Given the description of an element on the screen output the (x, y) to click on. 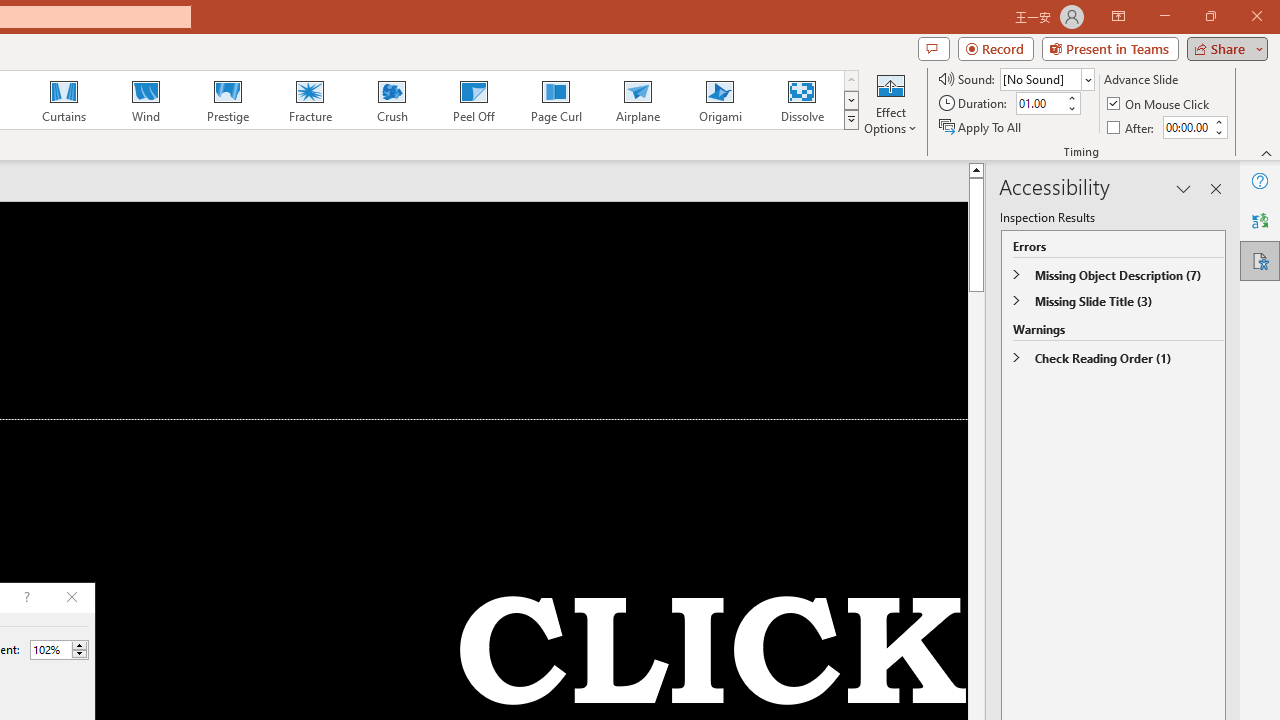
On Mouse Click (1159, 103)
Prestige (227, 100)
Sound (1046, 78)
More (79, 645)
Peel Off (473, 100)
After (1186, 127)
Transition Effects (850, 120)
Page Curl (555, 100)
